Given the description of an element on the screen output the (x, y) to click on. 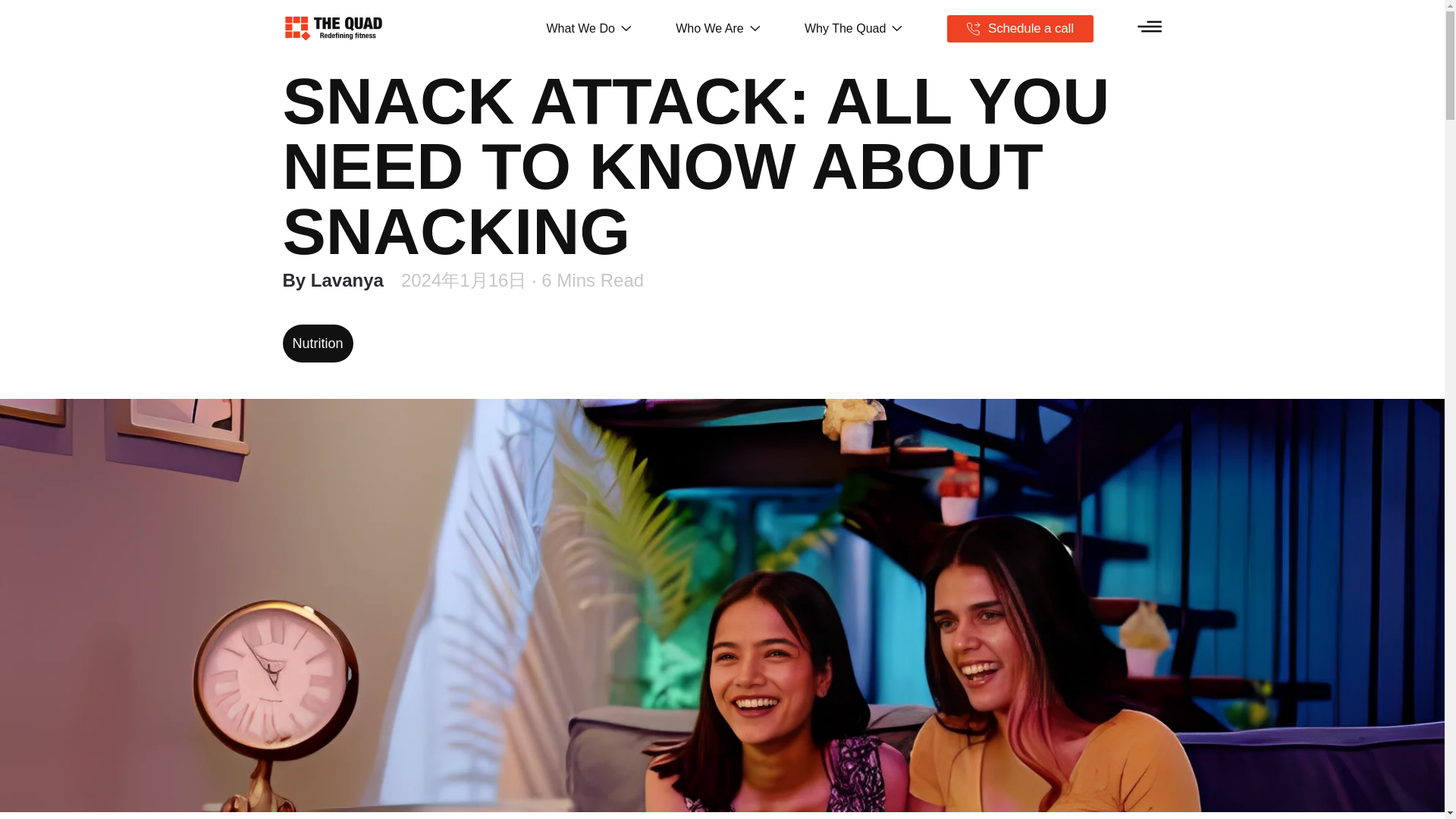
Why The Quad (853, 28)
Who We Are (717, 28)
Schedule a call (1020, 28)
What We Do (588, 28)
